Given the description of an element on the screen output the (x, y) to click on. 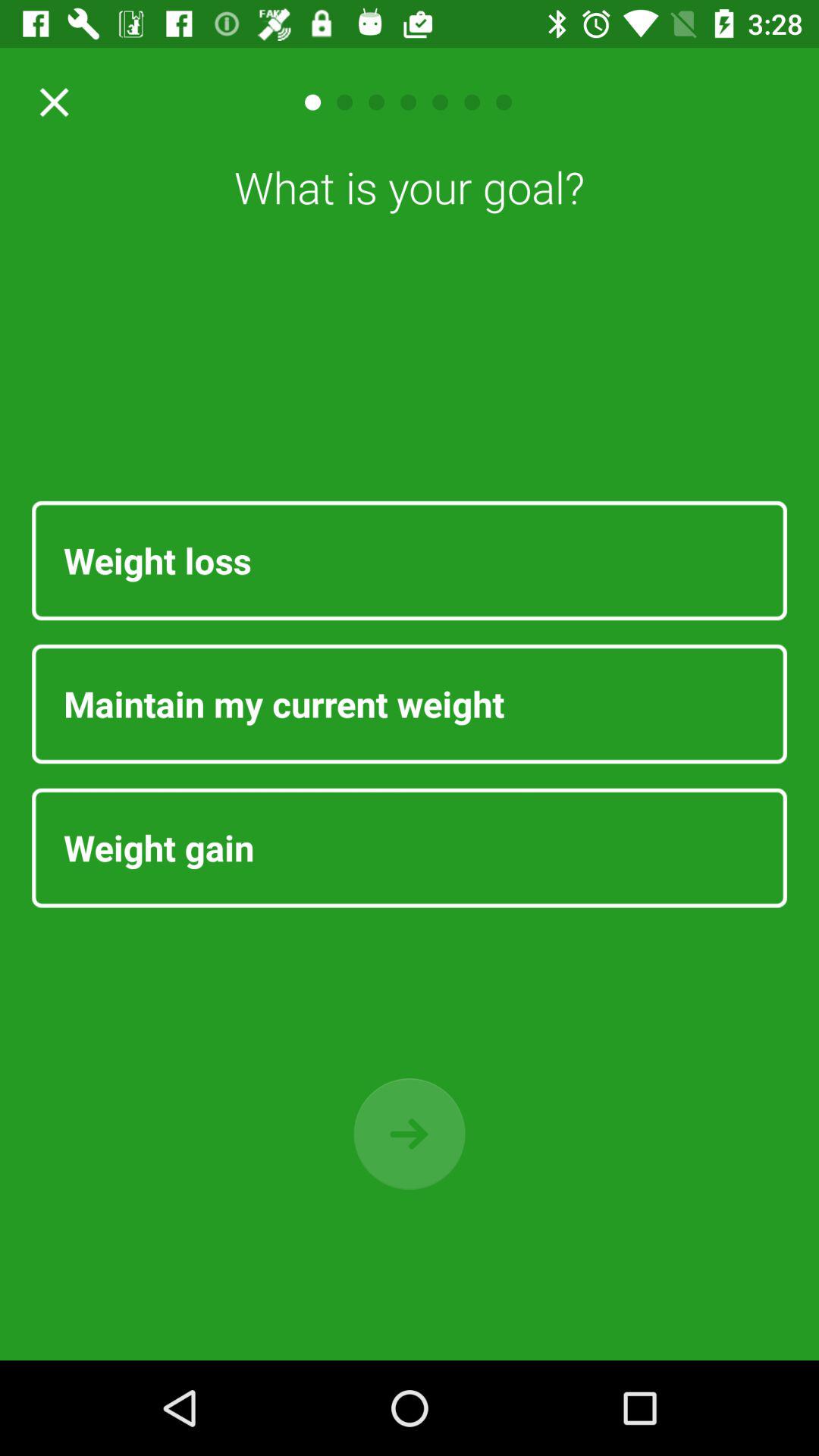
close button (48, 102)
